Given the description of an element on the screen output the (x, y) to click on. 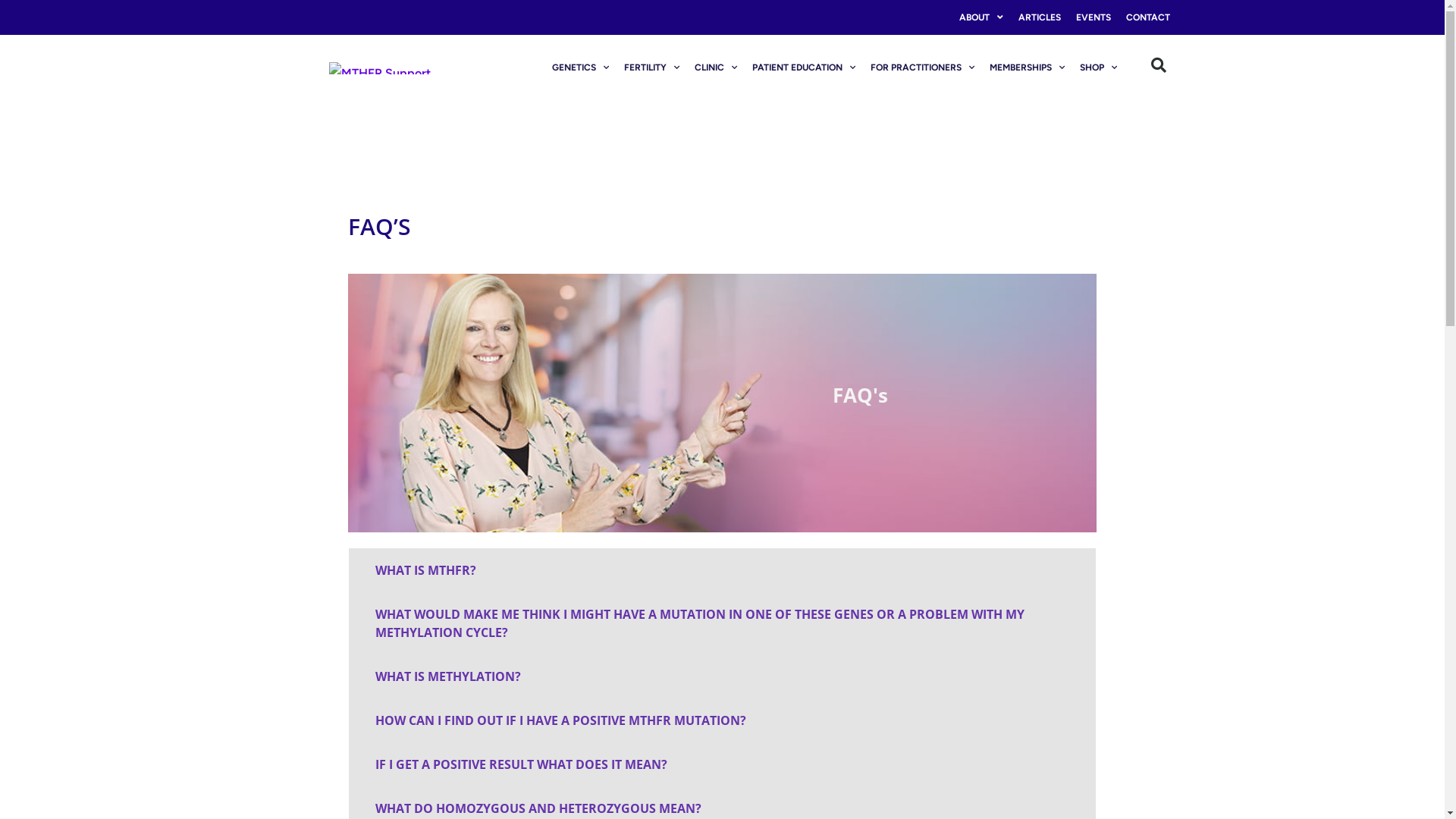
GENETICS Element type: text (580, 67)
EVENTS Element type: text (1092, 17)
ABOUT Element type: text (980, 17)
CLINIC Element type: text (715, 67)
MEMBERSHIPS Element type: text (1026, 67)
CONTACT Element type: text (1147, 17)
FOR PRACTITIONERS Element type: text (922, 67)
SHOP Element type: text (1098, 67)
PATIENT EDUCATION Element type: text (803, 67)
FERTILITY Element type: text (651, 67)
ARTICLES Element type: text (1038, 17)
